Given the description of an element on the screen output the (x, y) to click on. 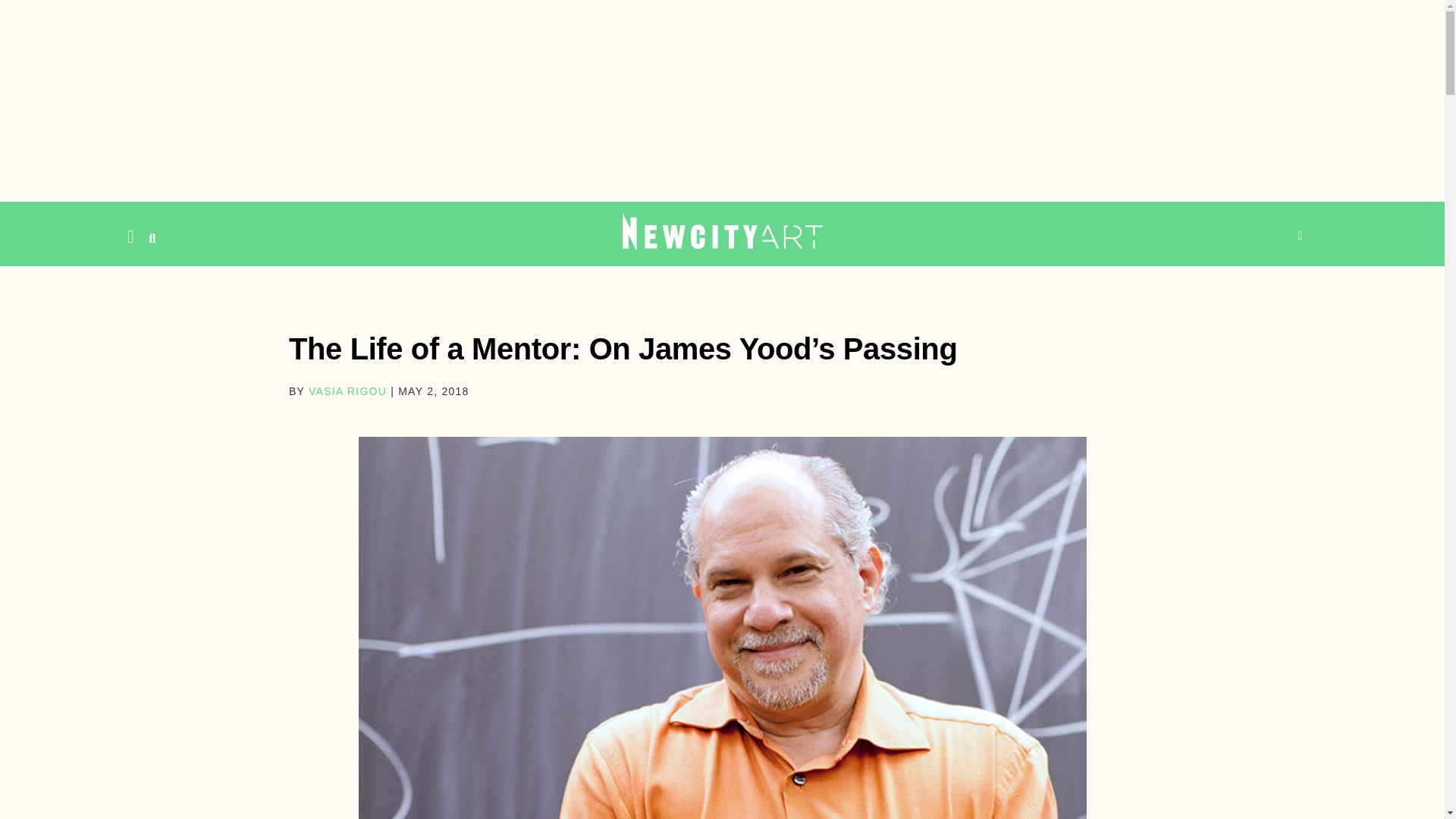
NewcityArt (721, 231)
VASIA RIGOU (347, 390)
